Given the description of an element on the screen output the (x, y) to click on. 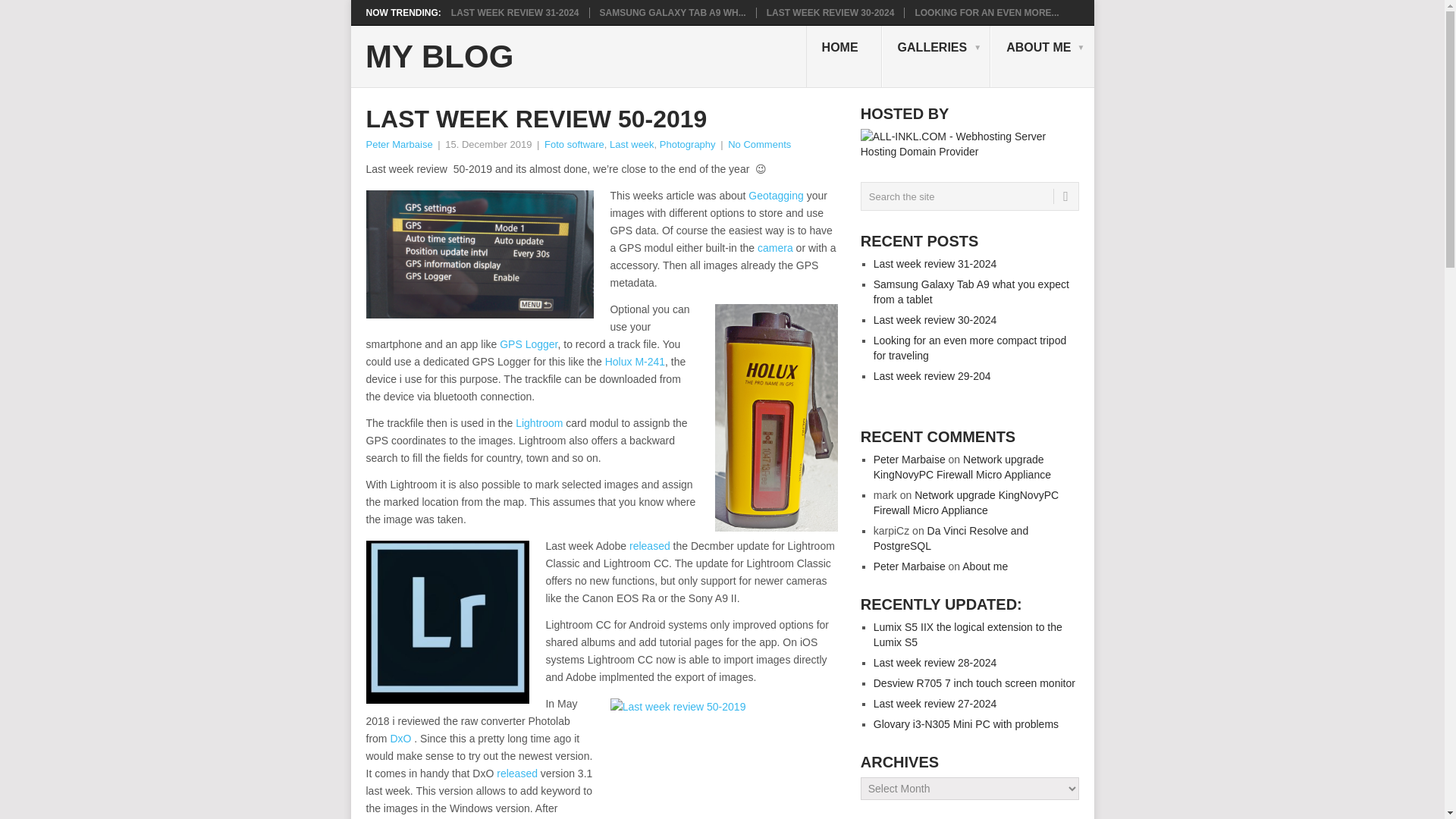
LAST WEEK REVIEW 30-2024 (831, 12)
Foto software (574, 143)
Search the site (969, 195)
Photography (687, 143)
Last week (631, 143)
Looking for an even more compact tripod for traveling (986, 12)
MY BLOG (439, 56)
HOME (844, 56)
ABOUT ME (1041, 56)
Samsung Galaxy Tab A9 what you expect from a tablet (672, 12)
No Comments (759, 143)
Holux M-241 (635, 361)
GPS Logger (528, 344)
Lightroom (538, 422)
LOOKING FOR AN EVEN MORE... (986, 12)
